Given the description of an element on the screen output the (x, y) to click on. 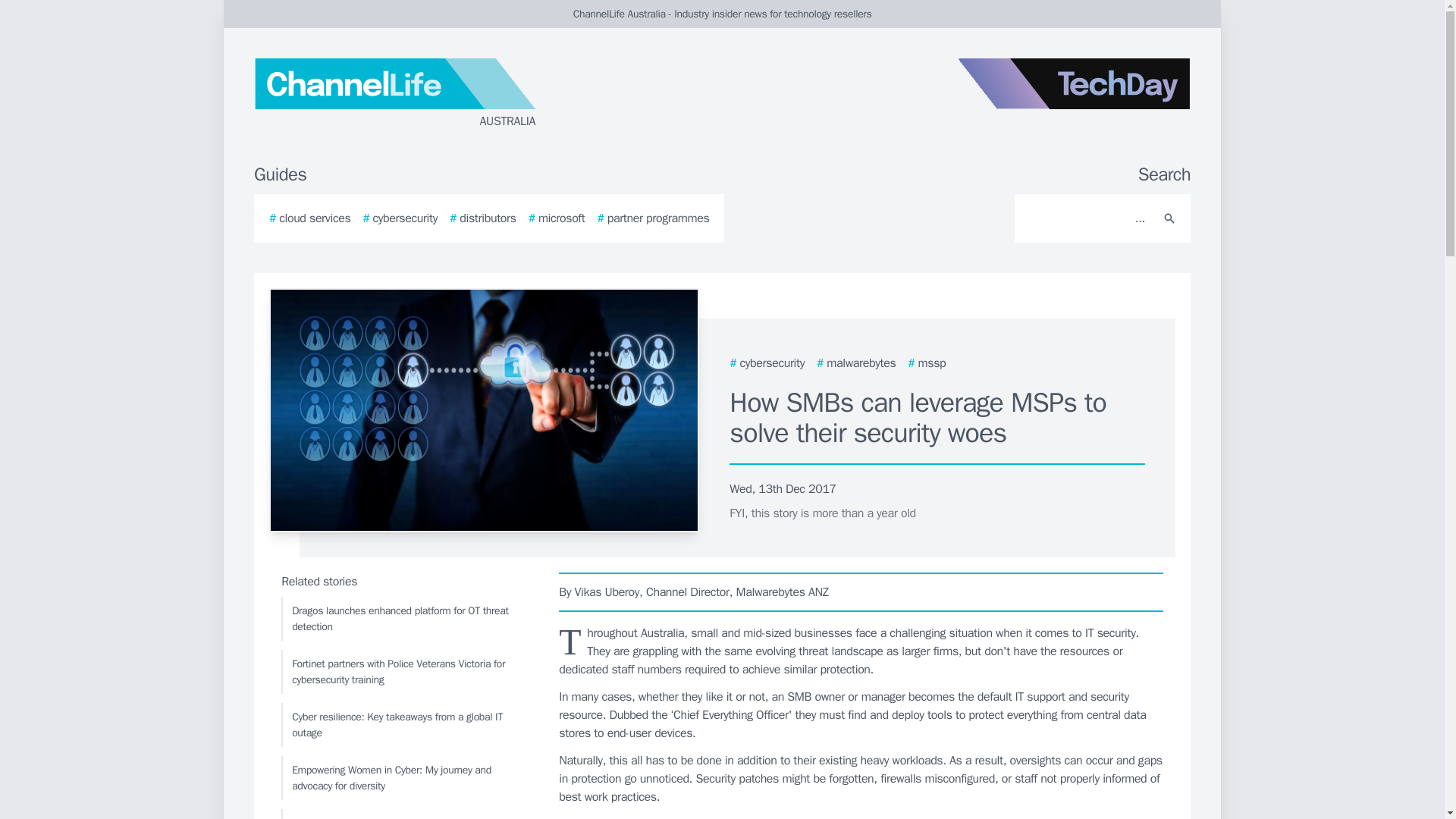
Dragos launches enhanced platform for OT threat detection (406, 618)
Cyber resilience: Key takeaways from a global IT outage (406, 724)
By Vikas Uberoy, Channel Director, Malwarebytes ANZ (861, 592)
AUSTRALIA (435, 94)
